Given the description of an element on the screen output the (x, y) to click on. 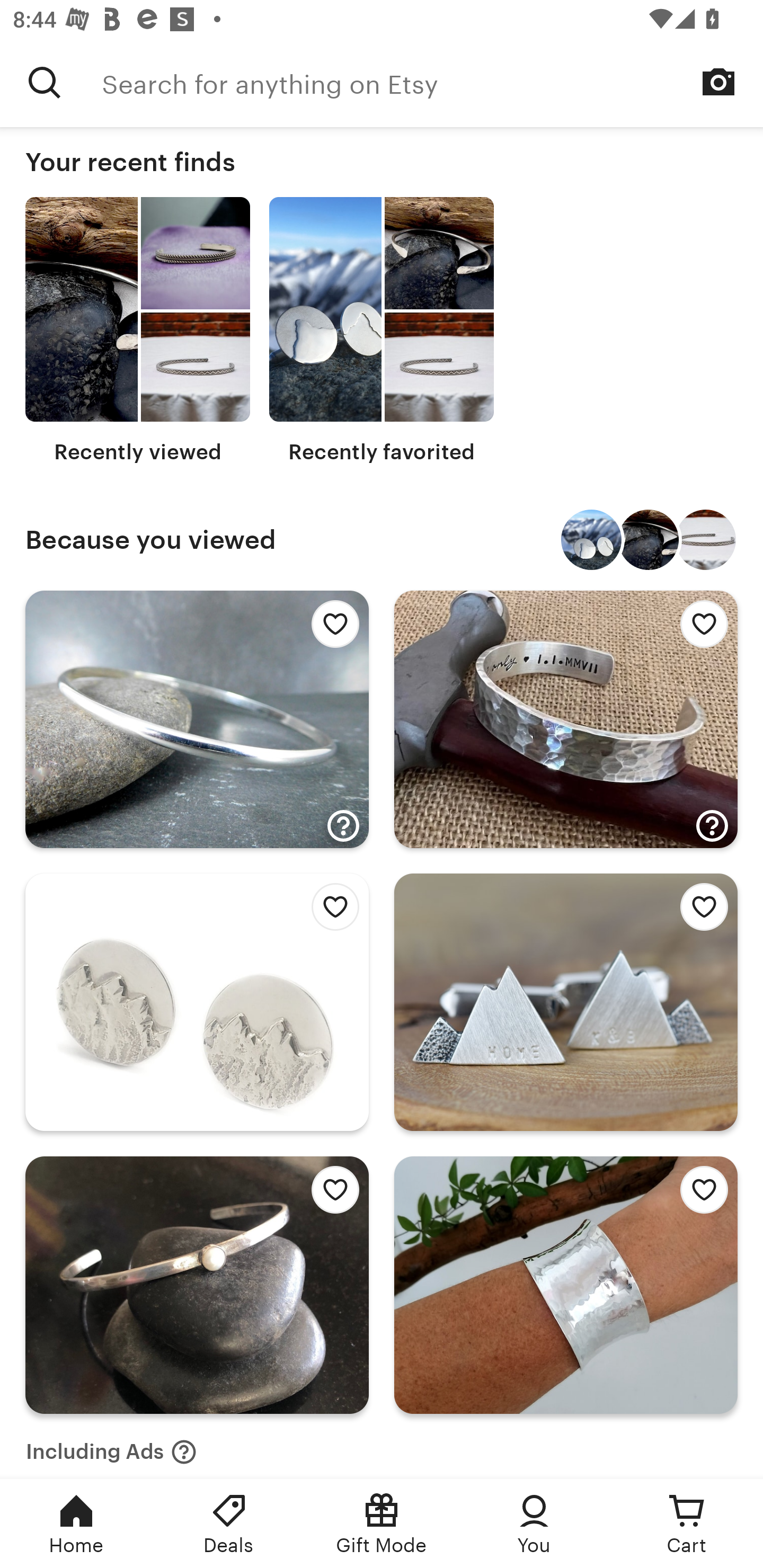
Search for anything on Etsy (44, 82)
Search by image (718, 81)
Search for anything on Etsy (432, 82)
Recently viewed (137, 330)
Recently favorited (381, 330)
Including Ads (111, 1446)
Deals (228, 1523)
Gift Mode (381, 1523)
You (533, 1523)
Cart (686, 1523)
